Given the description of an element on the screen output the (x, y) to click on. 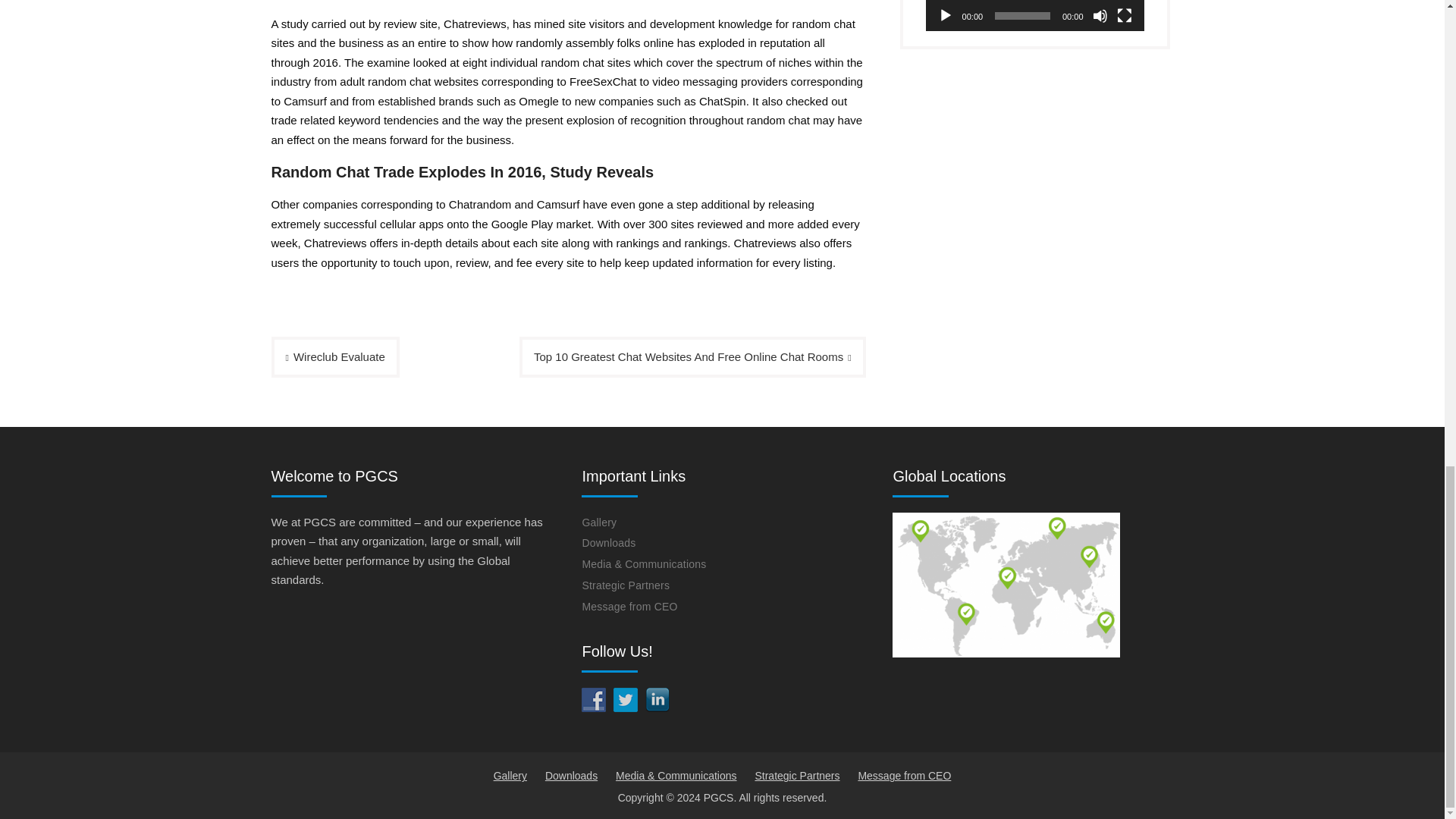
Play (945, 15)
Follow Us on Facebook (592, 699)
Fullscreen (1123, 15)
Follow Us on LinkedIn (657, 699)
Follow Us on Twitter (624, 699)
Mute (1099, 15)
